Given the description of an element on the screen output the (x, y) to click on. 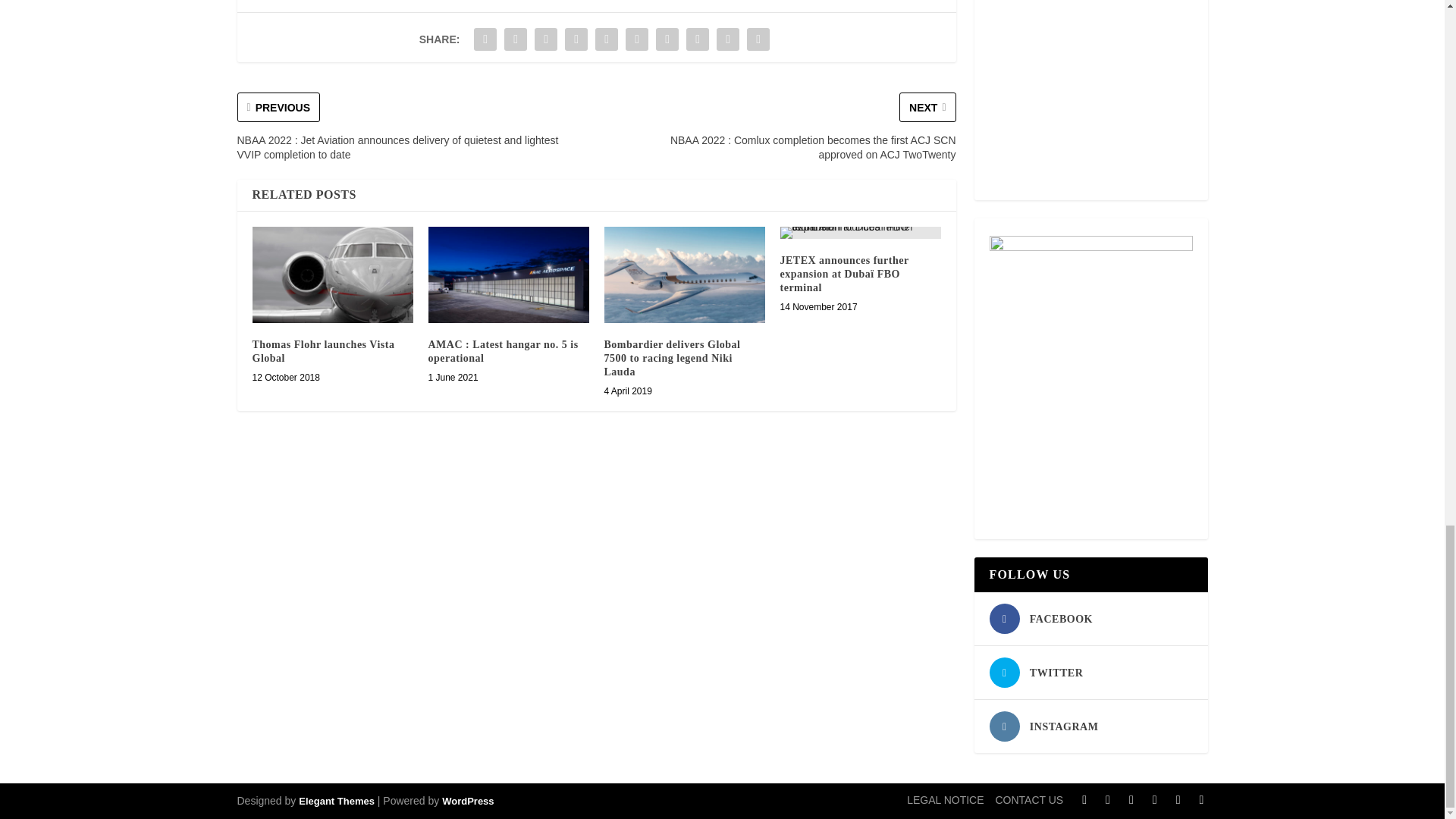
AMAC : Latest hangar no. 5 is operational (508, 274)
Bombardier delivers Global 7500 to racing legend Niki Lauda (684, 274)
Thomas Flohr launches Vista Global (331, 274)
